Given the description of an element on the screen output the (x, y) to click on. 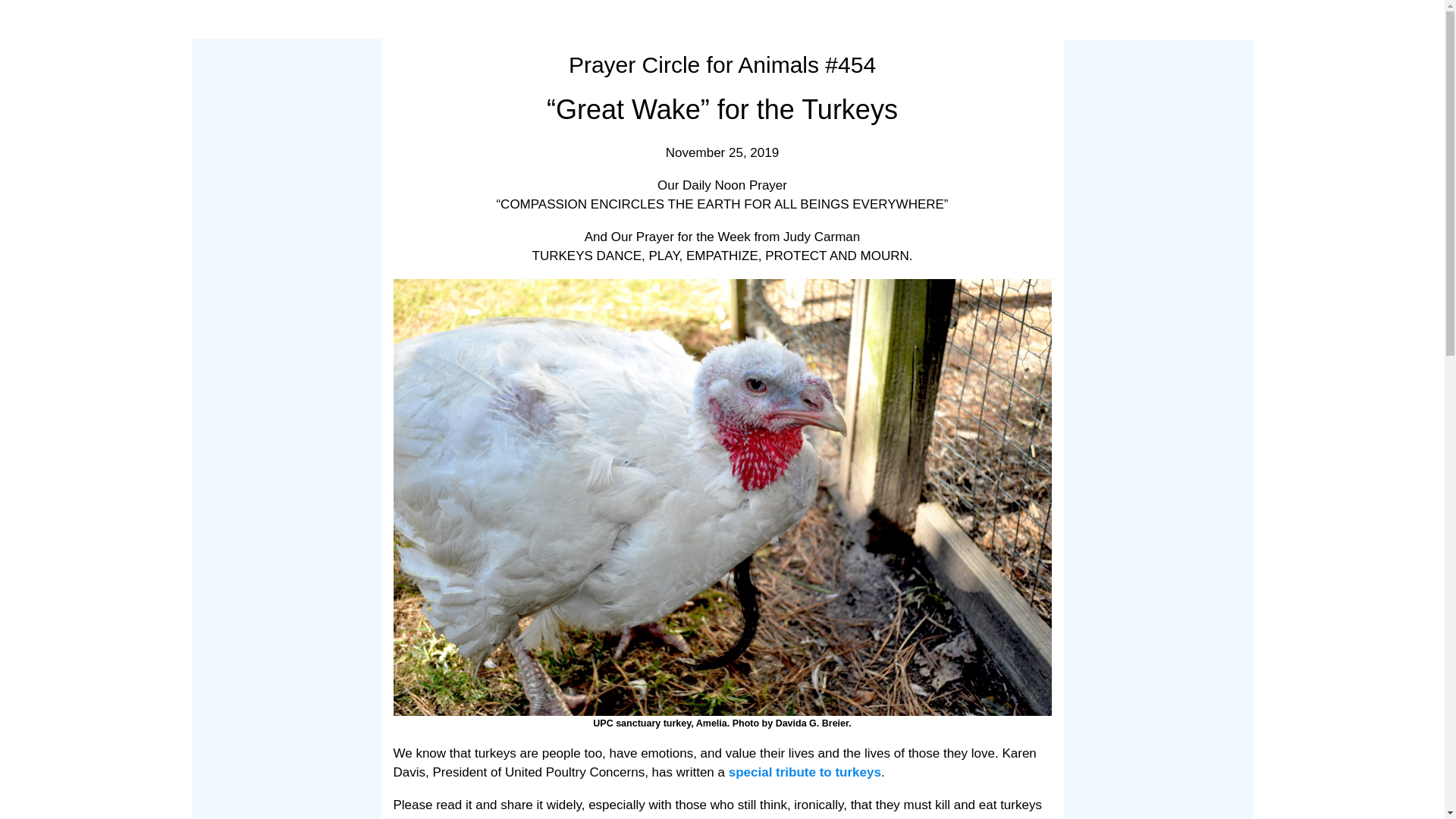
special tribute to turkeys (804, 771)
